Given the description of an element on the screen output the (x, y) to click on. 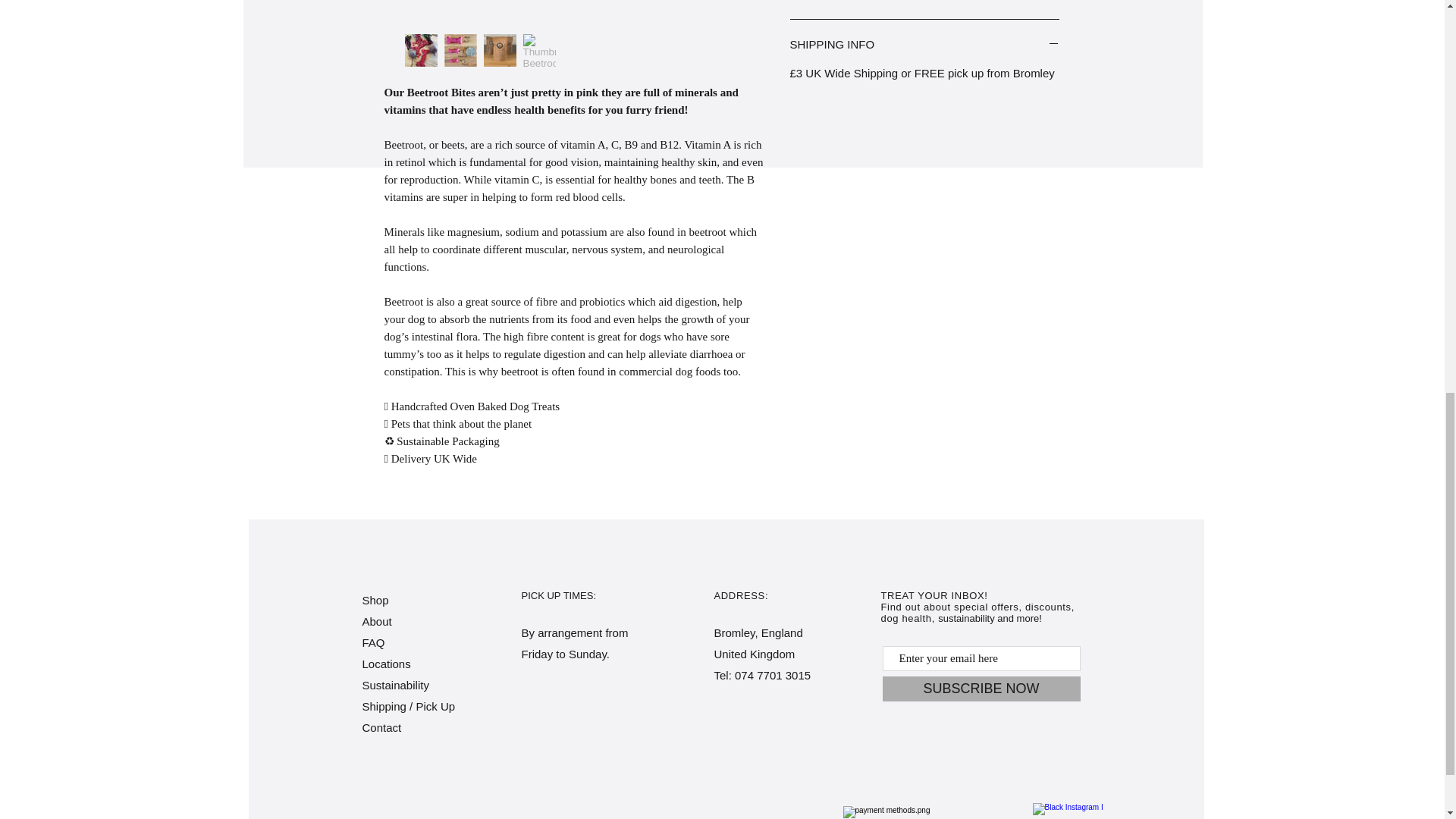
Shop (375, 599)
FAQ (373, 642)
Contact (381, 727)
About (376, 621)
Locations (386, 663)
SUBSCRIBE NOW (981, 688)
Sustainability (395, 684)
SHIPPING INFO (924, 44)
